Given the description of an element on the screen output the (x, y) to click on. 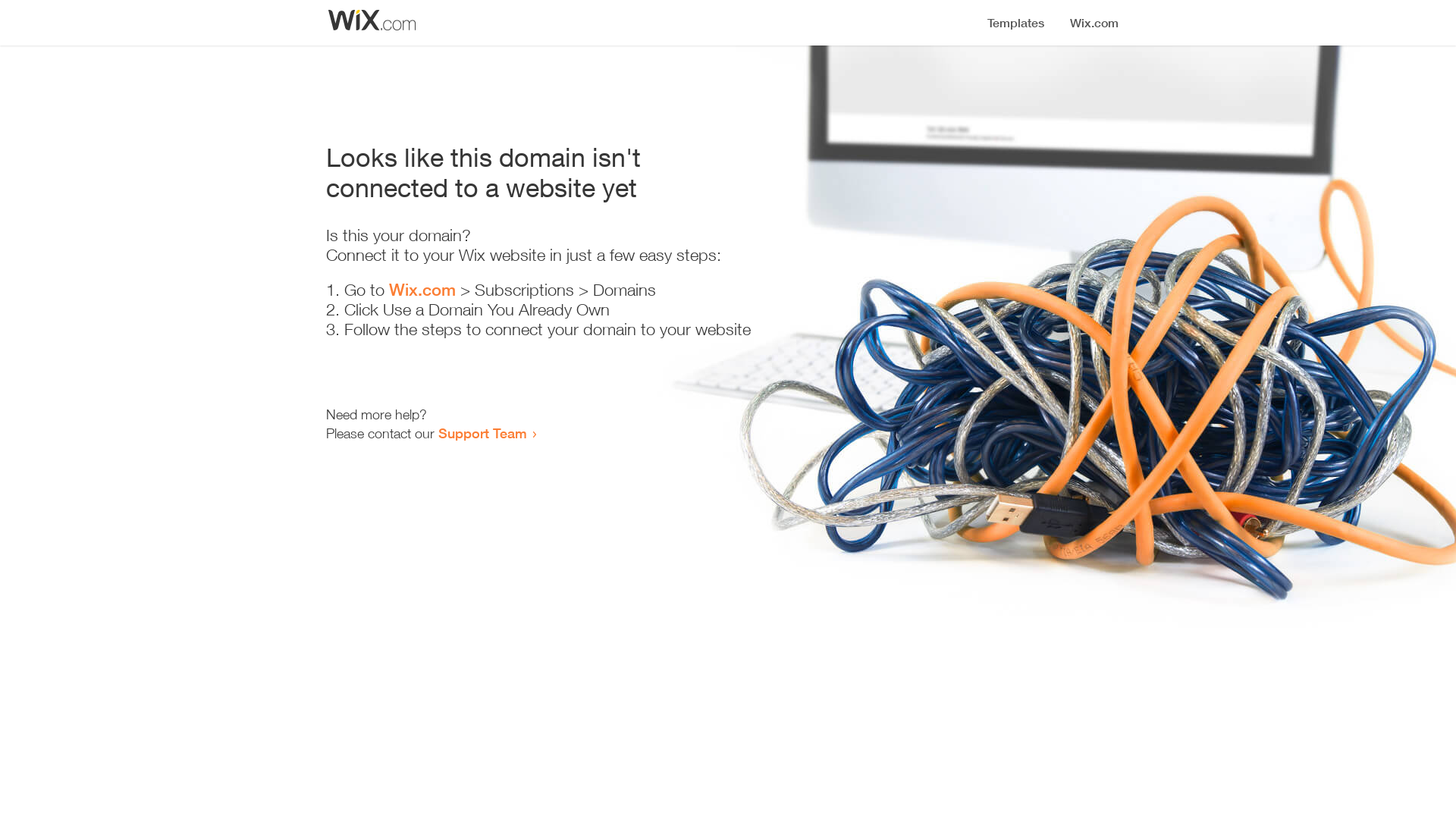
Wix.com Element type: text (422, 289)
Support Team Element type: text (482, 432)
